Given the description of an element on the screen output the (x, y) to click on. 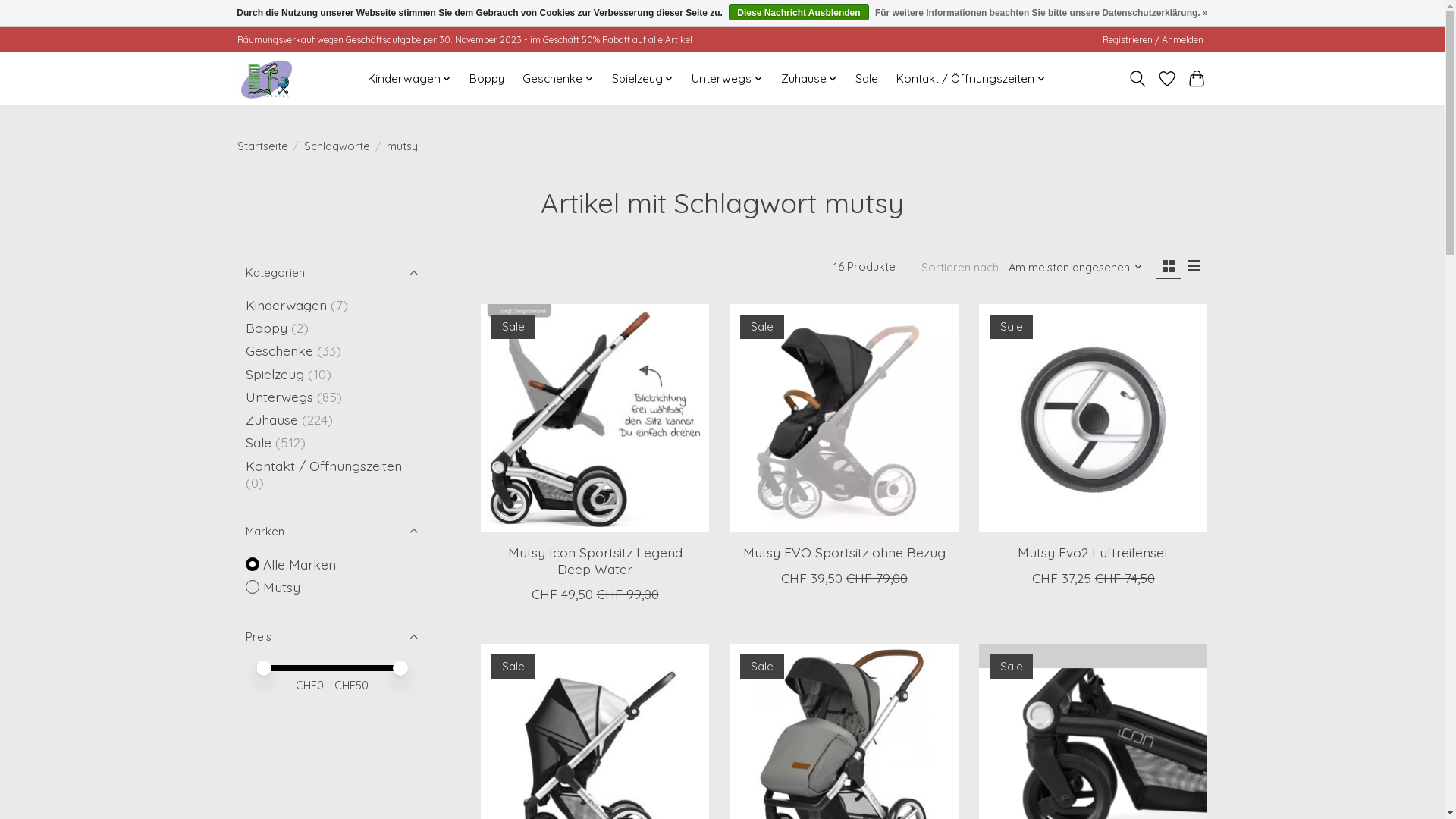
Zuhause Element type: text (809, 78)
Mutsy EVO Sportsitz ohne Bezug Element type: text (844, 551)
Kinderwagen Element type: text (409, 78)
Schlagworte Element type: text (337, 145)
Geschenke Element type: text (279, 350)
Registrieren / Anmelden Element type: text (1152, 39)
Sale Element type: text (866, 78)
Baby-Center Wurmito GmbH Element type: hover (264, 78)
Mutsy Mutsy Icon Sportsitz Legend Deep Water Element type: hover (594, 418)
Preis Element type: text (331, 636)
Boppy Element type: text (486, 78)
Mutsy Evo2 Luftreifenset Element type: text (1092, 551)
Boppy Element type: text (266, 327)
Spielzeug Element type: text (642, 78)
Kinderwagen Element type: text (285, 304)
Startseite Element type: text (261, 145)
Mutsy Icon Sportsitz Legend Deep Water Element type: text (595, 559)
Mutsy Mutsy EVO Sportsitz ohne Bezug Element type: hover (844, 418)
Am meisten angesehen Element type: text (1075, 267)
Geschenke Element type: text (558, 78)
Spielzeug Element type: text (274, 373)
Diese Nachricht Ausblenden Element type: text (798, 11)
Unterwegs Element type: text (727, 78)
Mutsy Mutsy Evo2 Luftreifenset Element type: hover (1093, 418)
Zuhause Element type: text (271, 419)
Unterwegs Element type: text (279, 396)
Sale Element type: text (258, 441)
Kategorien Element type: text (331, 271)
Marken Element type: text (331, 530)
